Given the description of an element on the screen output the (x, y) to click on. 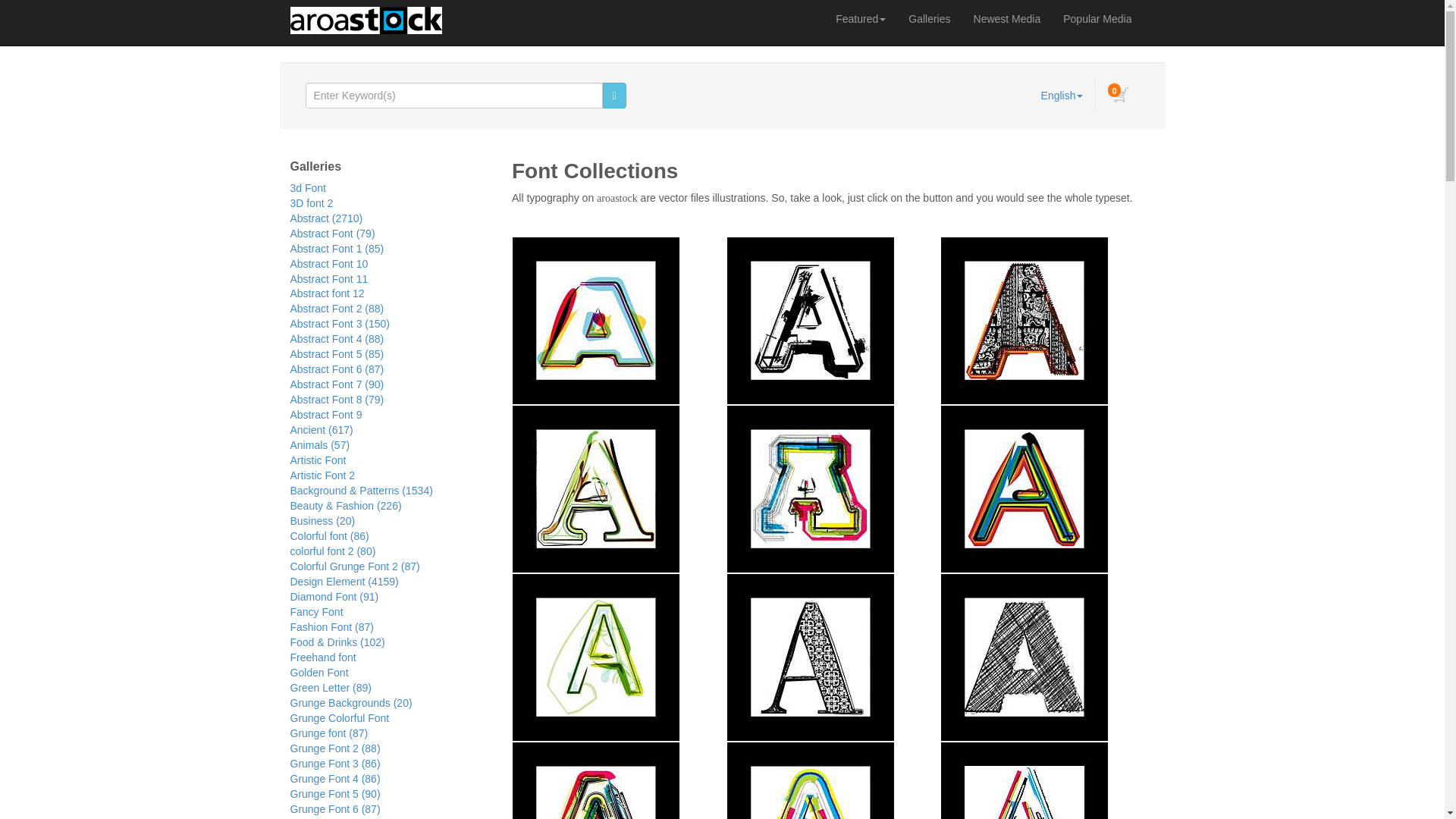
English (1061, 95)
Popular Media (1096, 18)
3D font 2 (311, 203)
Featured (860, 18)
Abstract font 12 (326, 293)
3d Font (306, 187)
Abstract Font 10 (328, 263)
Galleries (928, 18)
Newest Media (1007, 18)
Abstract Font 11 (328, 278)
